Given the description of an element on the screen output the (x, y) to click on. 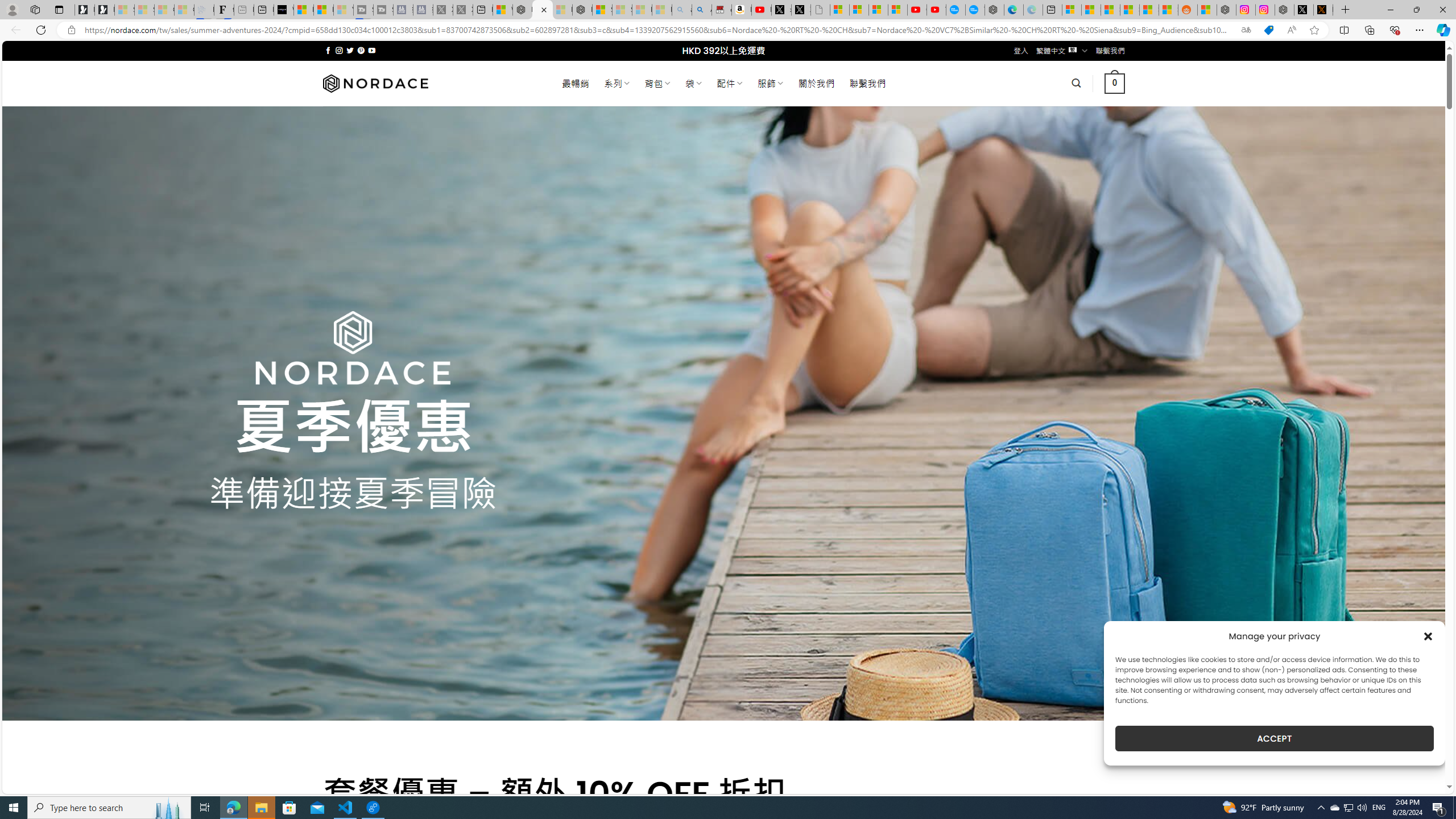
Follow on Facebook (327, 50)
New tab - Sleeping (243, 9)
Nordace - Summer Adventures 2024 (1283, 9)
This site has coupons! Shopping in Microsoft Edge (1268, 29)
Follow on Pinterest (360, 50)
